Given the description of an element on the screen output the (x, y) to click on. 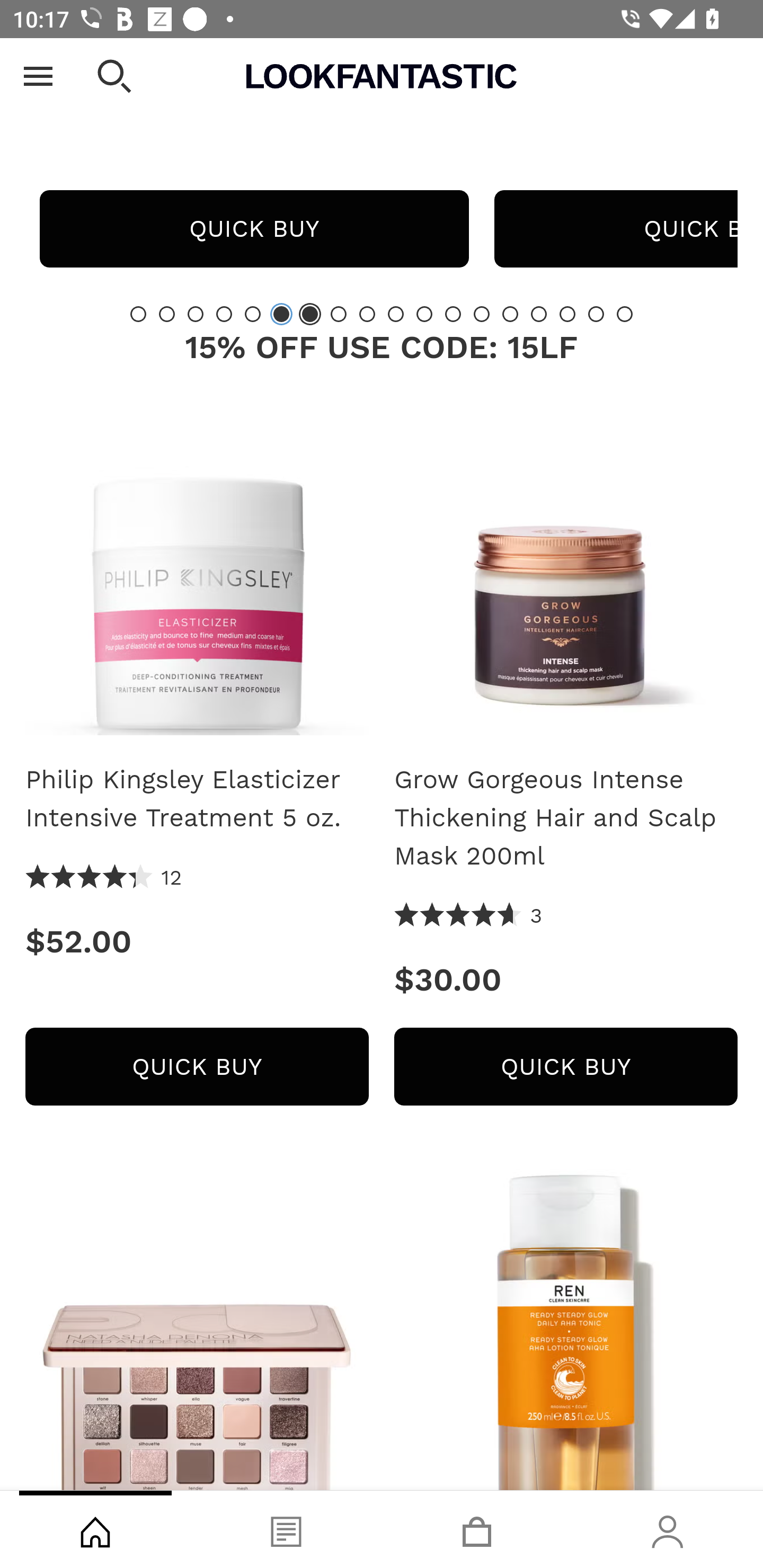
QUICK BUY CHRISTOPHE ROBIN MINI HAIR ESSENTIALS (254, 228)
Slide 1 (138, 314)
Slide 2 (166, 314)
Slide 3 (195, 314)
Slide 4 (223, 314)
Slide 5 (252, 314)
Showing Slide 6 (Current Item) (281, 314)
Showing Slide 7 (Current Item) (310, 314)
Slide 8 (338, 314)
Slide 9 (367, 314)
Slide 10 (395, 314)
Slide 11 (424, 314)
Slide 12 (452, 314)
Slide 13 (481, 314)
Slide 14 (510, 314)
Slide 15 (539, 314)
Slide 16 (567, 314)
Slide 17 (596, 314)
Slide 18 (624, 314)
4.33 Stars 12 Reviews (104, 877)
4.67 Stars 3 Reviews (468, 916)
Price: $52.00 (196, 941)
Price: $30.00 (565, 979)
Natasha Denona I Need A Nude Palette (196, 1329)
Shop, tab, 1 of 4 (95, 1529)
Blog, tab, 2 of 4 (285, 1529)
Basket, tab, 3 of 4 (476, 1529)
Account, tab, 4 of 4 (667, 1529)
